Given the description of an element on the screen output the (x, y) to click on. 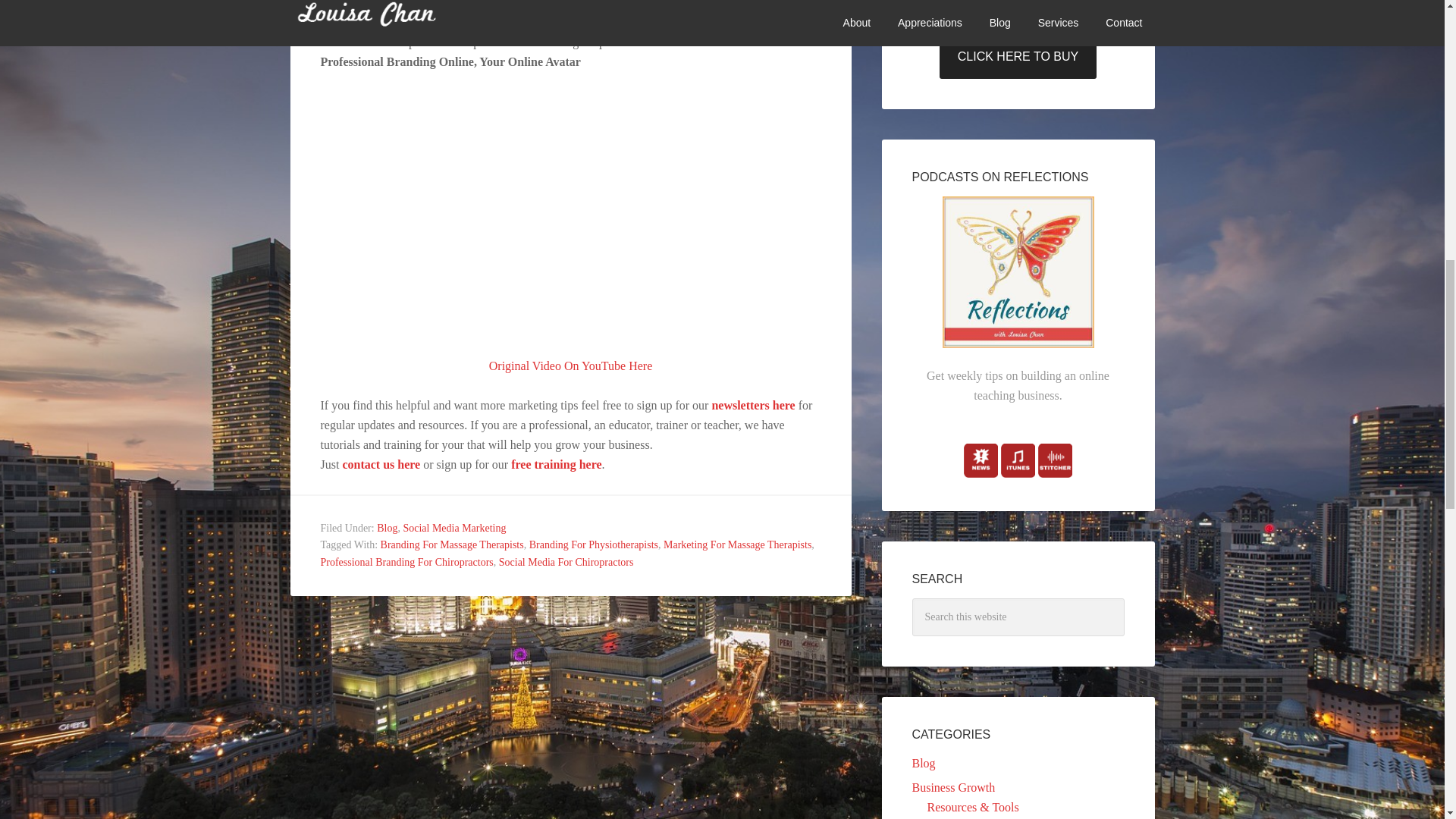
Professional Branding For Chiropractors (406, 562)
Louisa Chan (556, 463)
Original Video On YouTube Here (570, 365)
contact us here (381, 463)
Blog (922, 762)
Social Media For Chiropractors (566, 562)
Marketing For Massage Therapists (736, 544)
newsletters here (752, 404)
CLICK HERE TO BUY (1017, 56)
Branding For Massage Therapists (452, 544)
Social Media Marketing (454, 527)
Business Growth (952, 787)
Branding For Physiotherapists (593, 544)
